Given the description of an element on the screen output the (x, y) to click on. 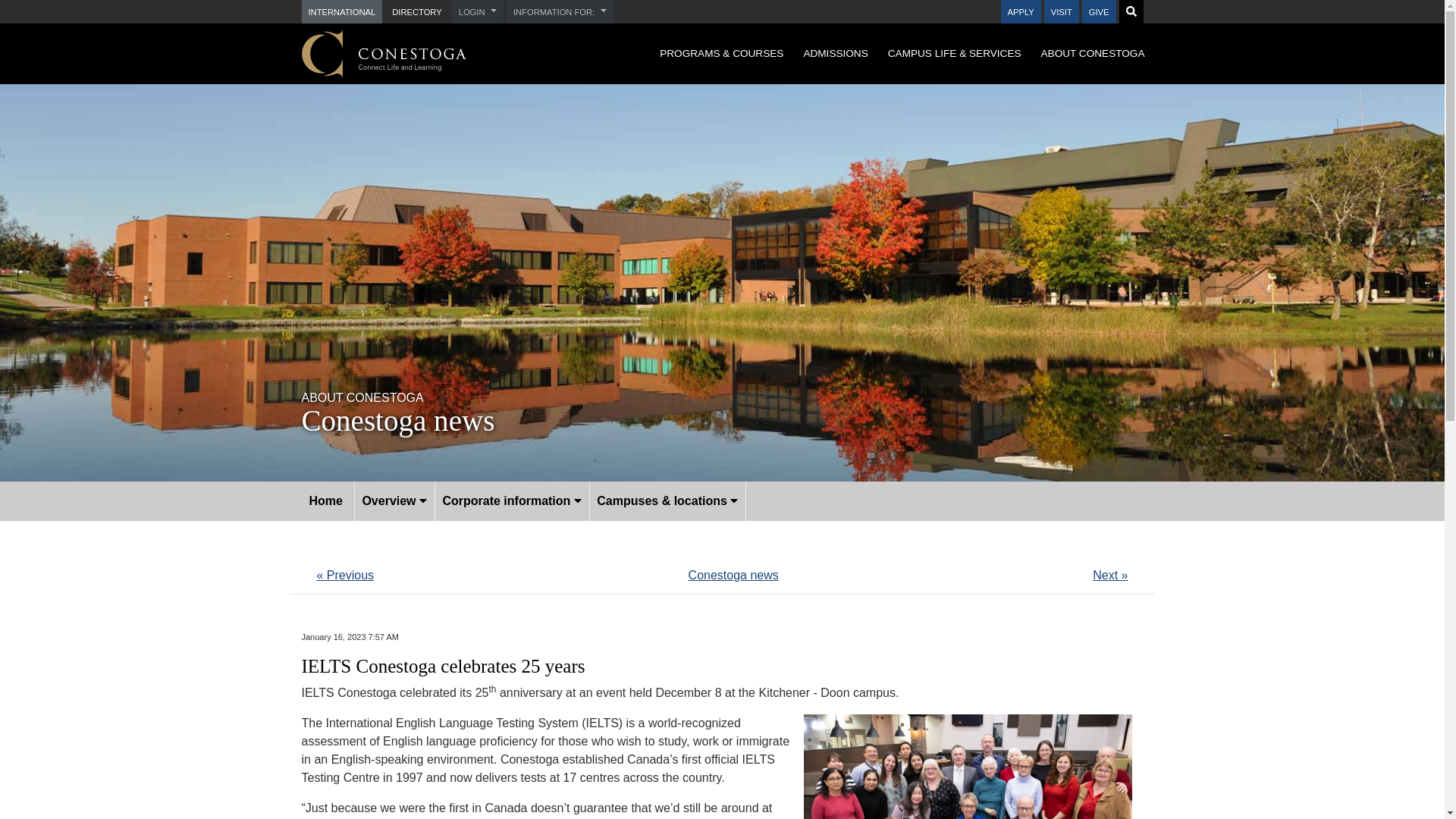
search site (1130, 10)
SEARCH SITE (1130, 10)
